Given the description of an element on the screen output the (x, y) to click on. 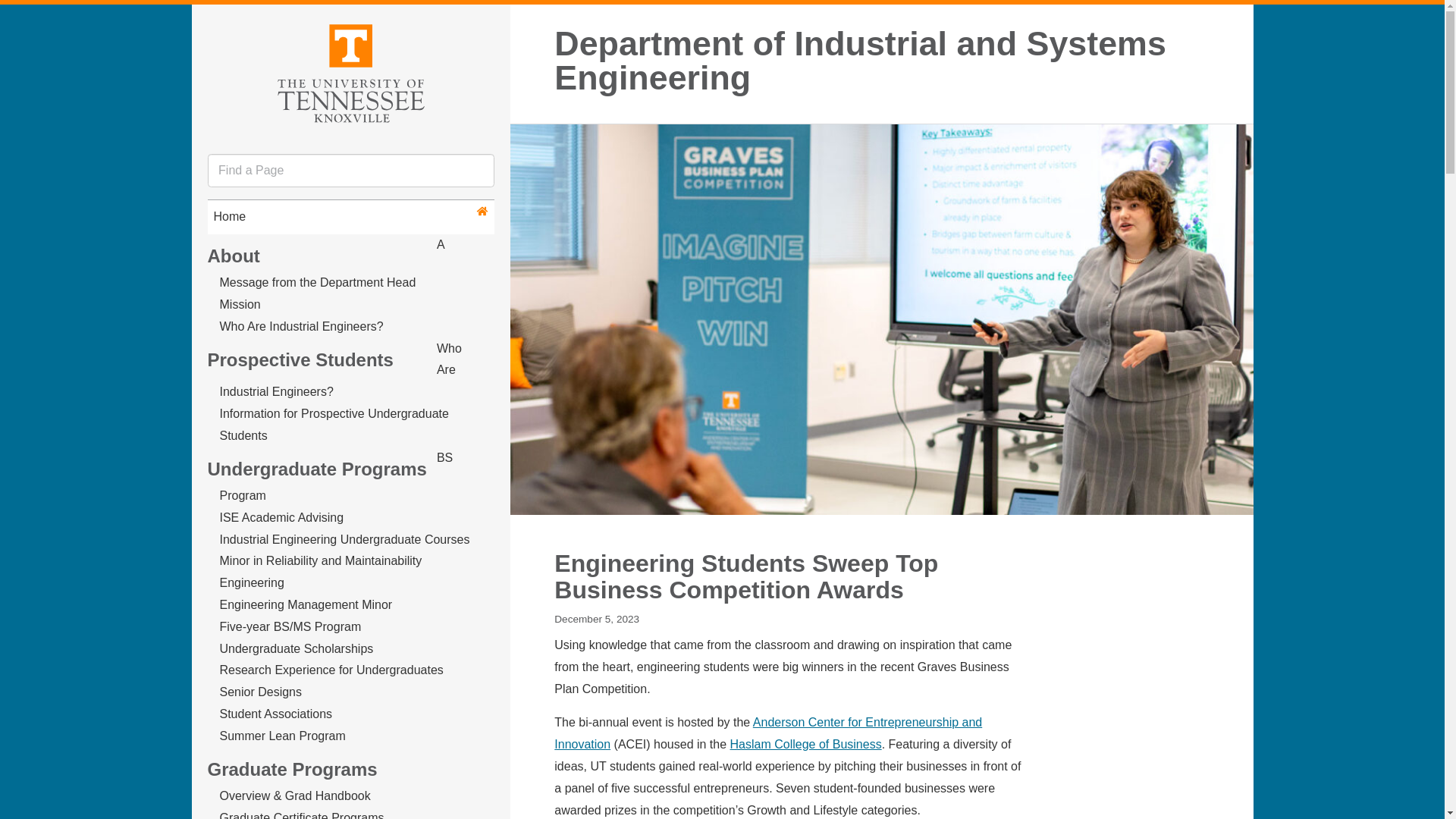
ISE Academic Advising (281, 517)
BS Program (335, 476)
Engineering Management Minor (306, 604)
The University of Tennessee, Knoxville (349, 70)
Student Associations (276, 713)
Undergraduate Scholarships (296, 648)
Department of Industrial and Systems Engineering (897, 60)
Summer Lean Program (282, 735)
Senior Designs (260, 691)
Skip to content (204, 17)
Information for Prospective Undergraduate Students (333, 424)
A Message from the Department Head (331, 263)
Mission (239, 304)
Minor in Reliability and Maintainability Engineering (320, 571)
